Given the description of an element on the screen output the (x, y) to click on. 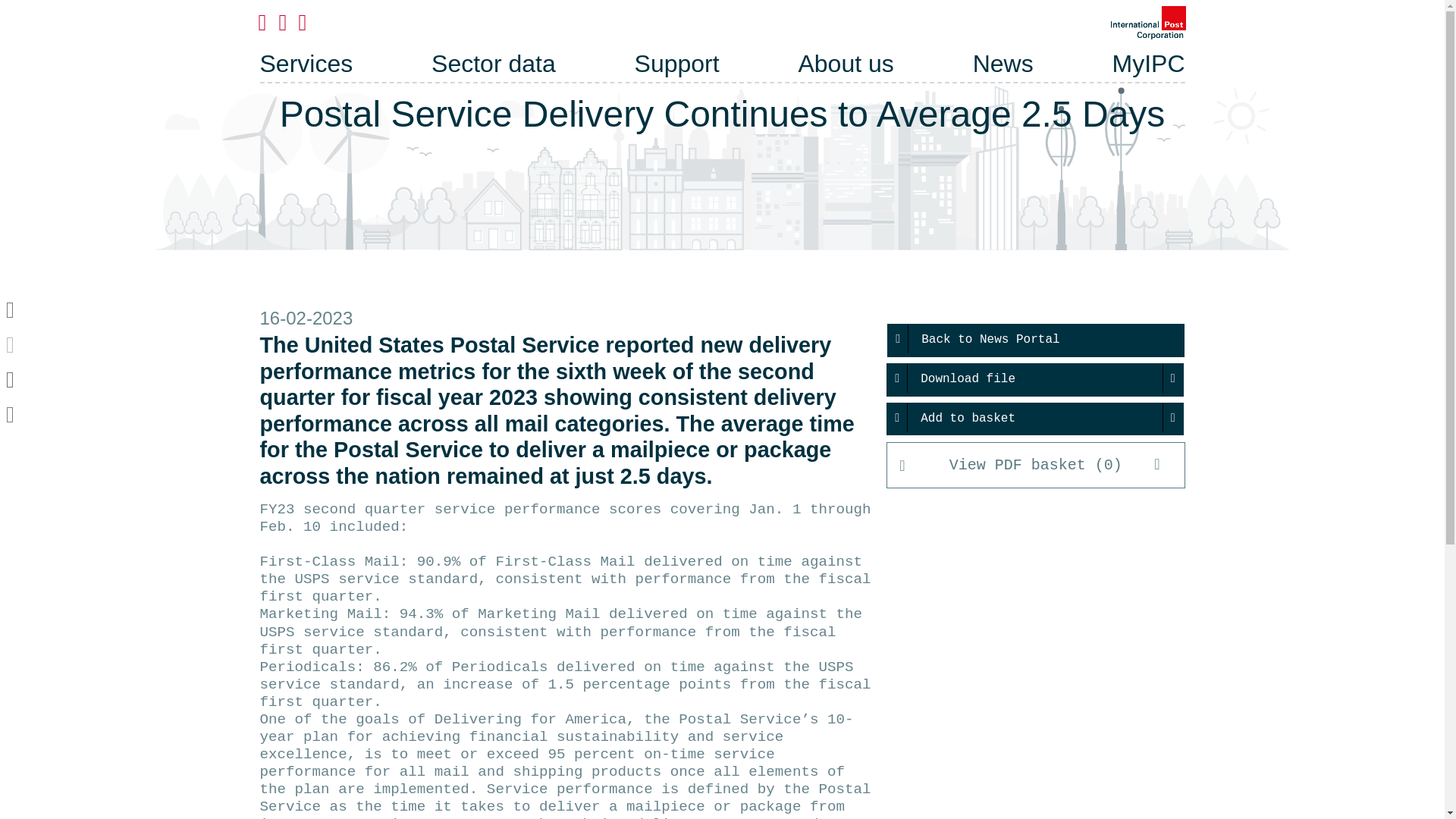
Services (305, 63)
International Post Corporation (1147, 22)
